Given the description of an element on the screen output the (x, y) to click on. 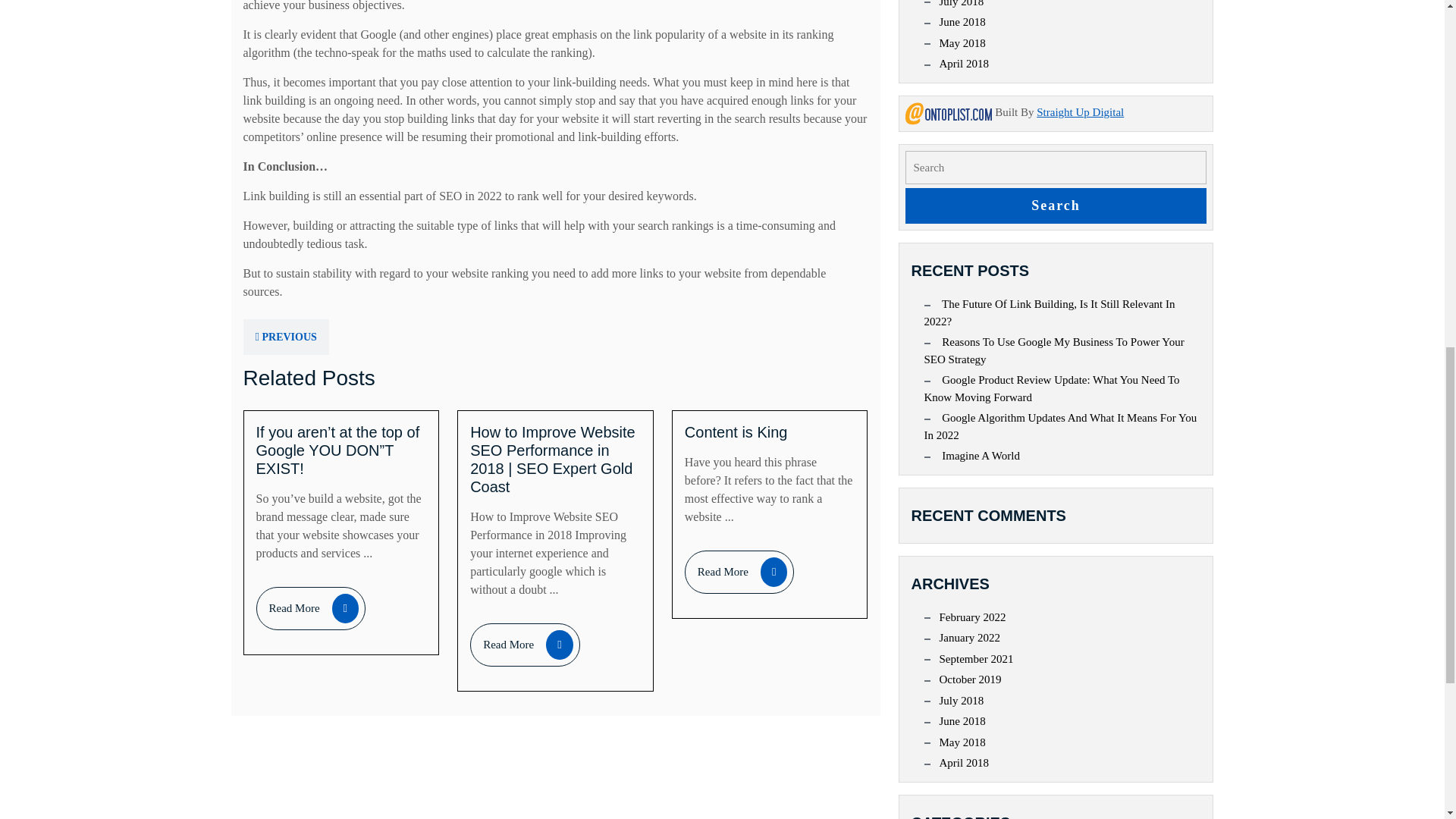
Content is King (311, 608)
Search (735, 432)
May 2018 (1056, 205)
Search (739, 571)
The Future Of Link Building, Is It Still Relevant In 2022? (962, 43)
July 2018 (1056, 205)
